Given the description of an element on the screen output the (x, y) to click on. 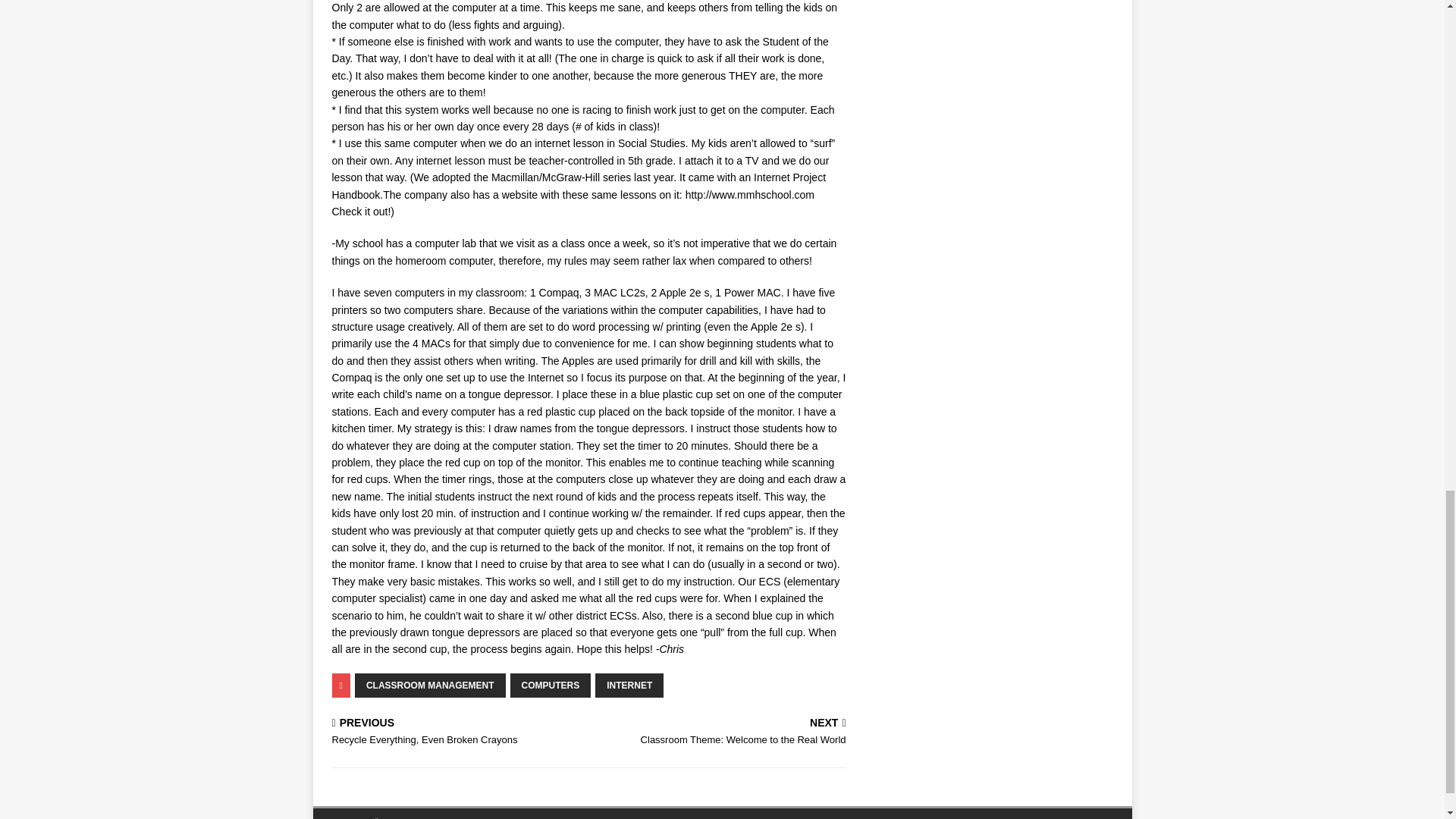
CLASSROOM MANAGEMENT (430, 685)
COMPUTERS (551, 685)
INTERNET (457, 732)
